Given the description of an element on the screen output the (x, y) to click on. 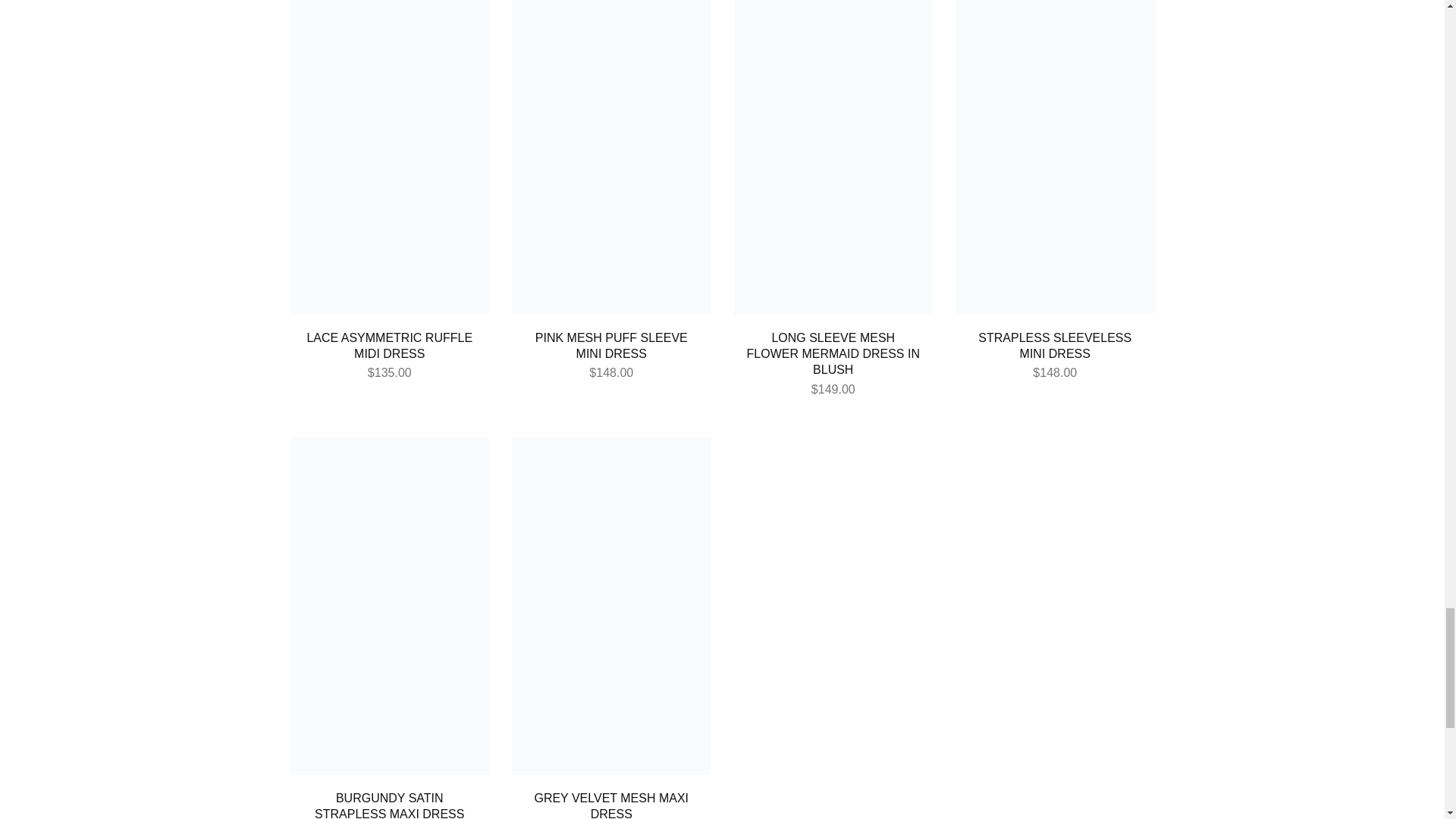
LACE ASYMMETRIC RUFFLE MIDI DRESS (388, 345)
